Given the description of an element on the screen output the (x, y) to click on. 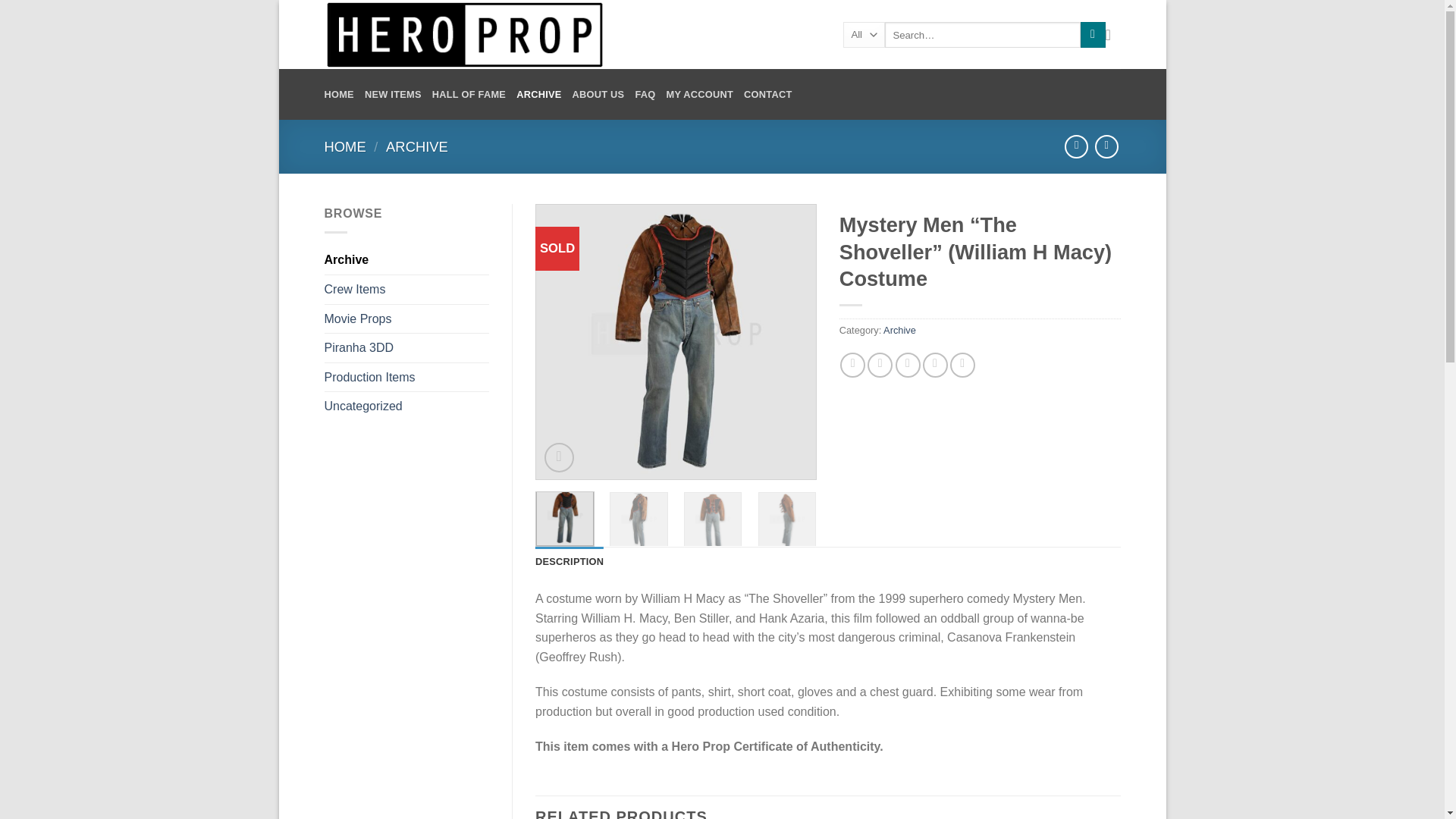
ARCHIVE (416, 146)
Movie Props (406, 318)
HOME (345, 146)
CONTACT (768, 93)
Archive (406, 259)
HeroProp.com - Production used Movie Props and Costumes (572, 34)
ABOUT US (598, 93)
NEW ITEMS (393, 93)
Crew Items (406, 289)
Share on Facebook (852, 364)
